Given the description of an element on the screen output the (x, y) to click on. 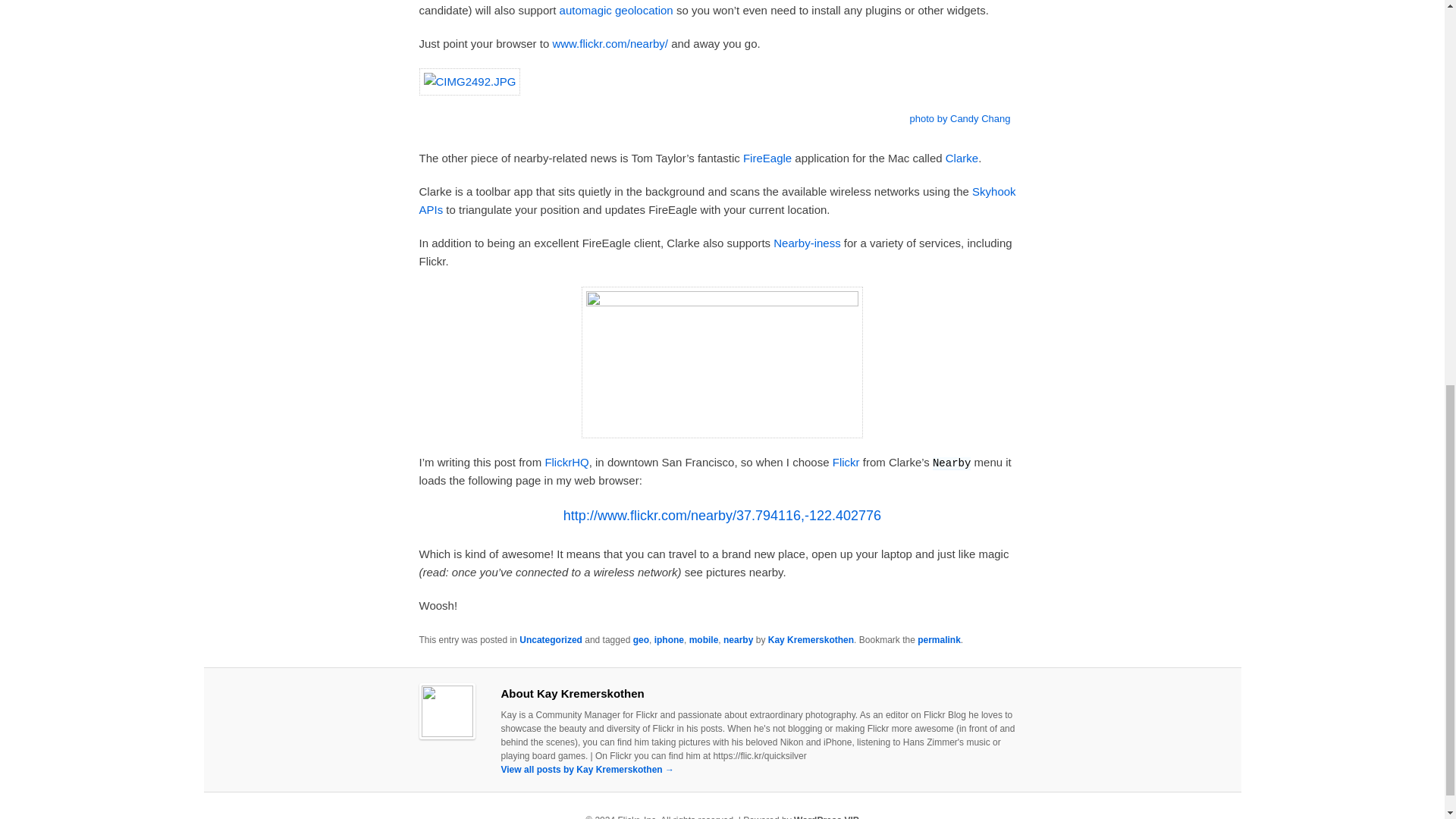
Flickr (846, 461)
FireEagle (767, 157)
Clarke (961, 157)
iphone (668, 639)
FlickrHQ (566, 461)
mobile (703, 639)
Permalink to Every Step A Story (938, 639)
automagic geolocation (615, 10)
photo by Candy Chang (960, 118)
geo (641, 639)
Uncategorized (550, 639)
Skyhook APIs (716, 200)
Nearby-iness (806, 242)
